Given the description of an element on the screen output the (x, y) to click on. 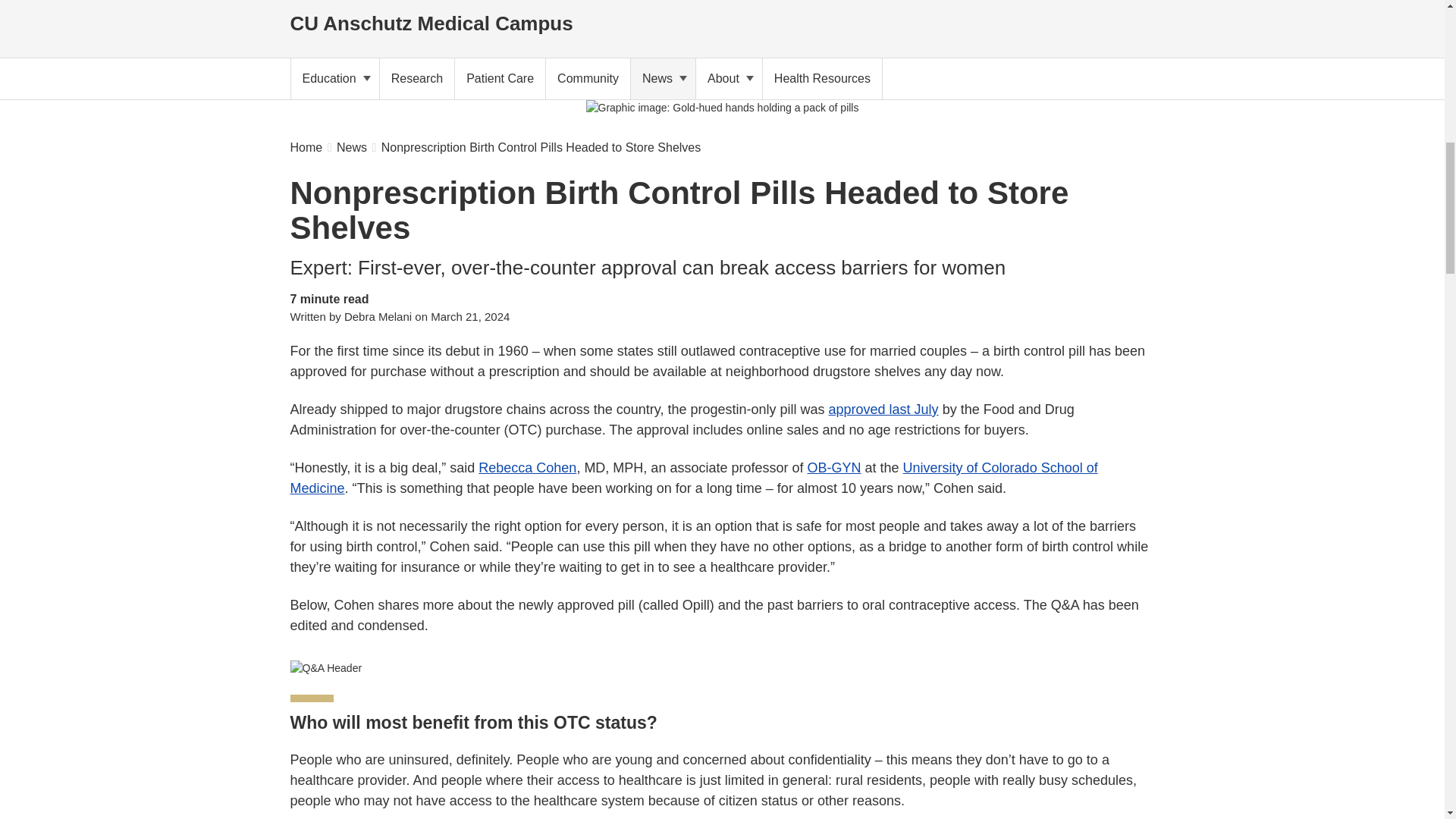
CU Anschutz Medical Campus (430, 20)
Education (334, 78)
